Given the description of an element on the screen output the (x, y) to click on. 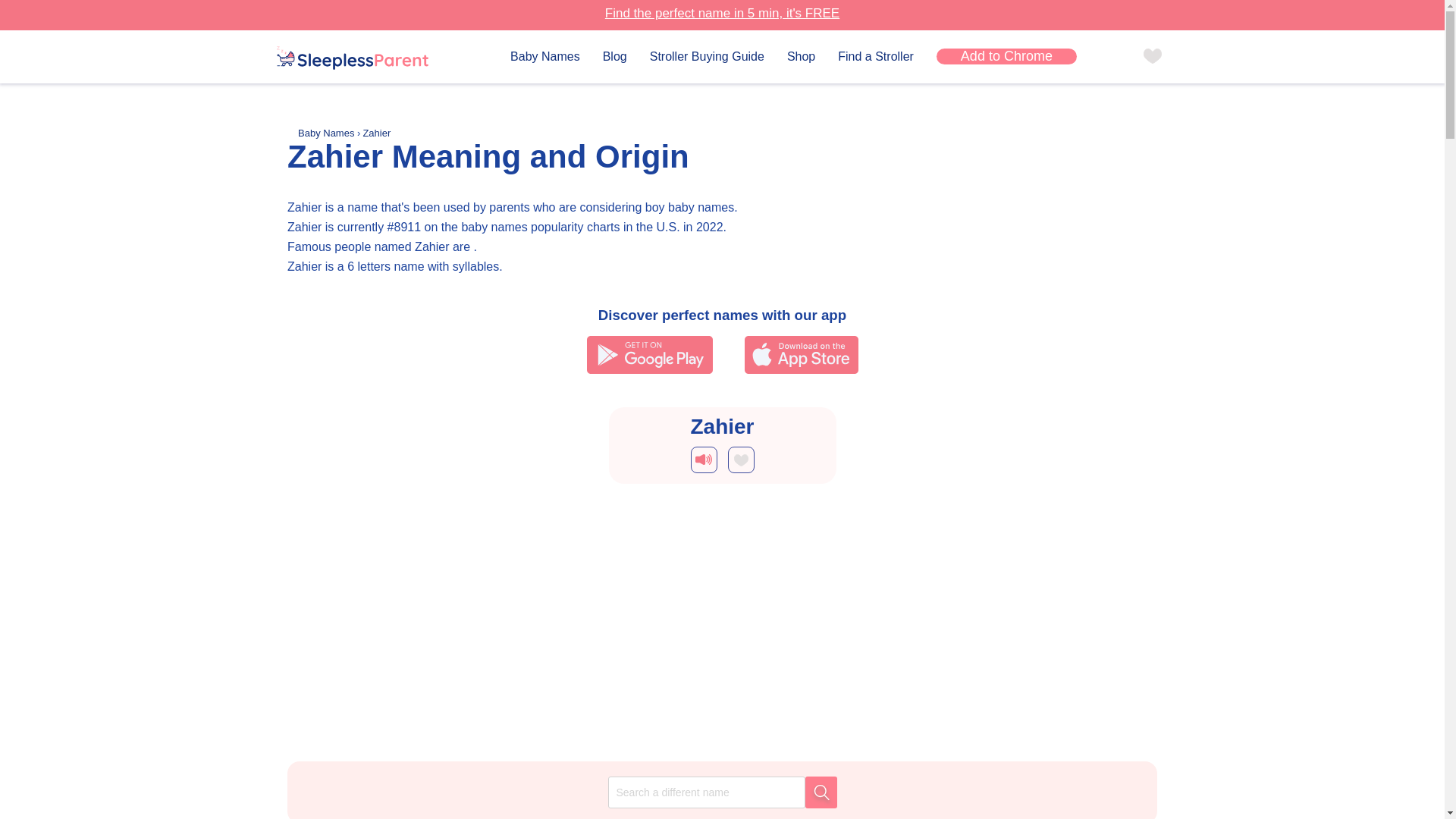
Stroller Buying Guide (706, 56)
Add to Chrome (1006, 56)
sleeplessparent.com (352, 57)
Blog (614, 56)
Add to Chrome (1006, 56)
home page (352, 58)
Shop (801, 56)
SleeplessParent ios app (801, 354)
Baby Names (545, 56)
Baby Names (327, 132)
SleeplessParent android app (649, 354)
Find a Stroller (876, 56)
Zahier (376, 132)
